Given the description of an element on the screen output the (x, y) to click on. 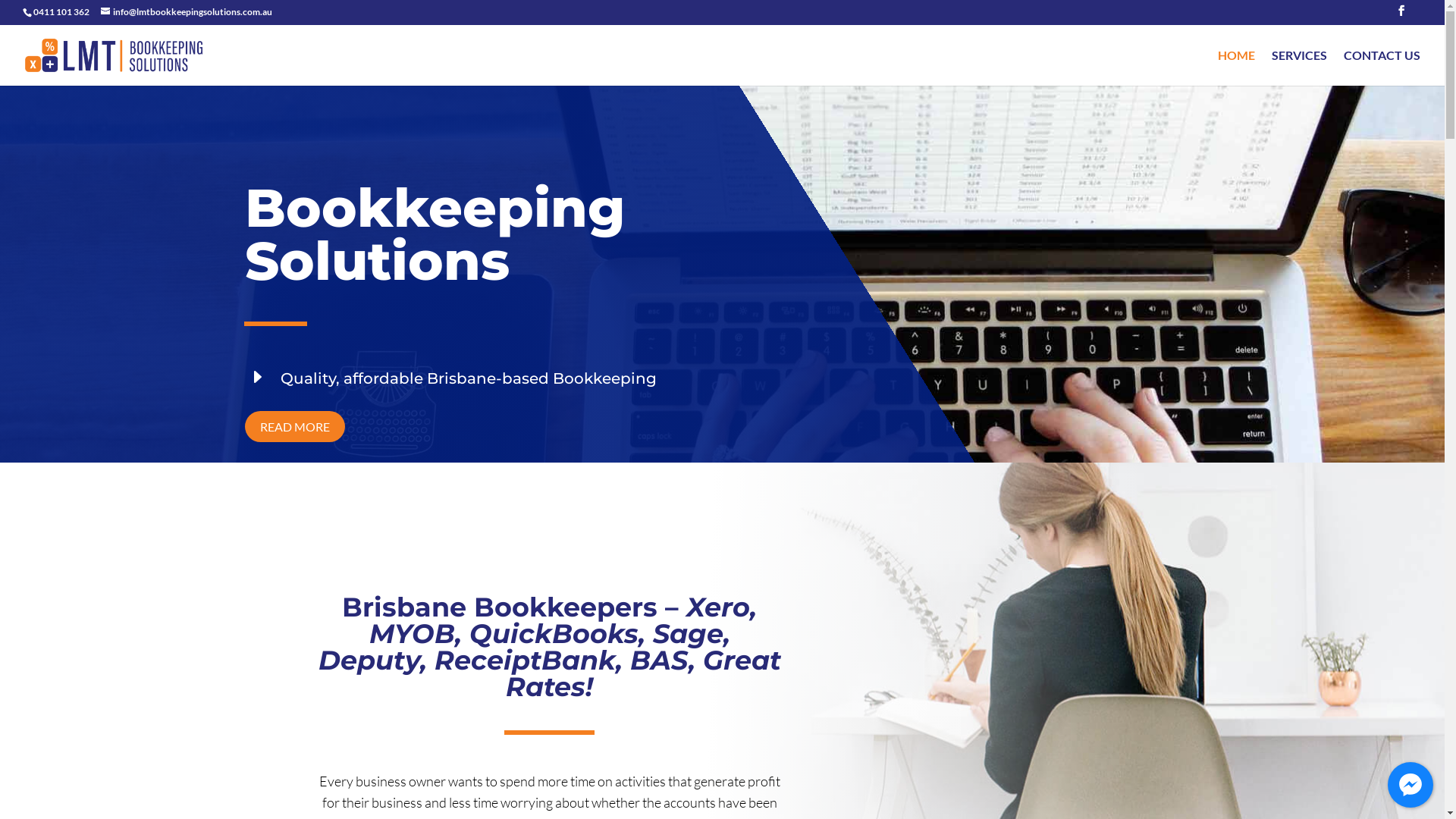
HOME Element type: text (1236, 67)
SERVICES Element type: text (1299, 67)
CONTACT US Element type: text (1381, 67)
0411 101 362 Element type: text (60, 11)
info@lmtbookkeepingsolutions.com.au Element type: text (186, 11)
READ MORE Element type: text (294, 426)
